Given the description of an element on the screen output the (x, y) to click on. 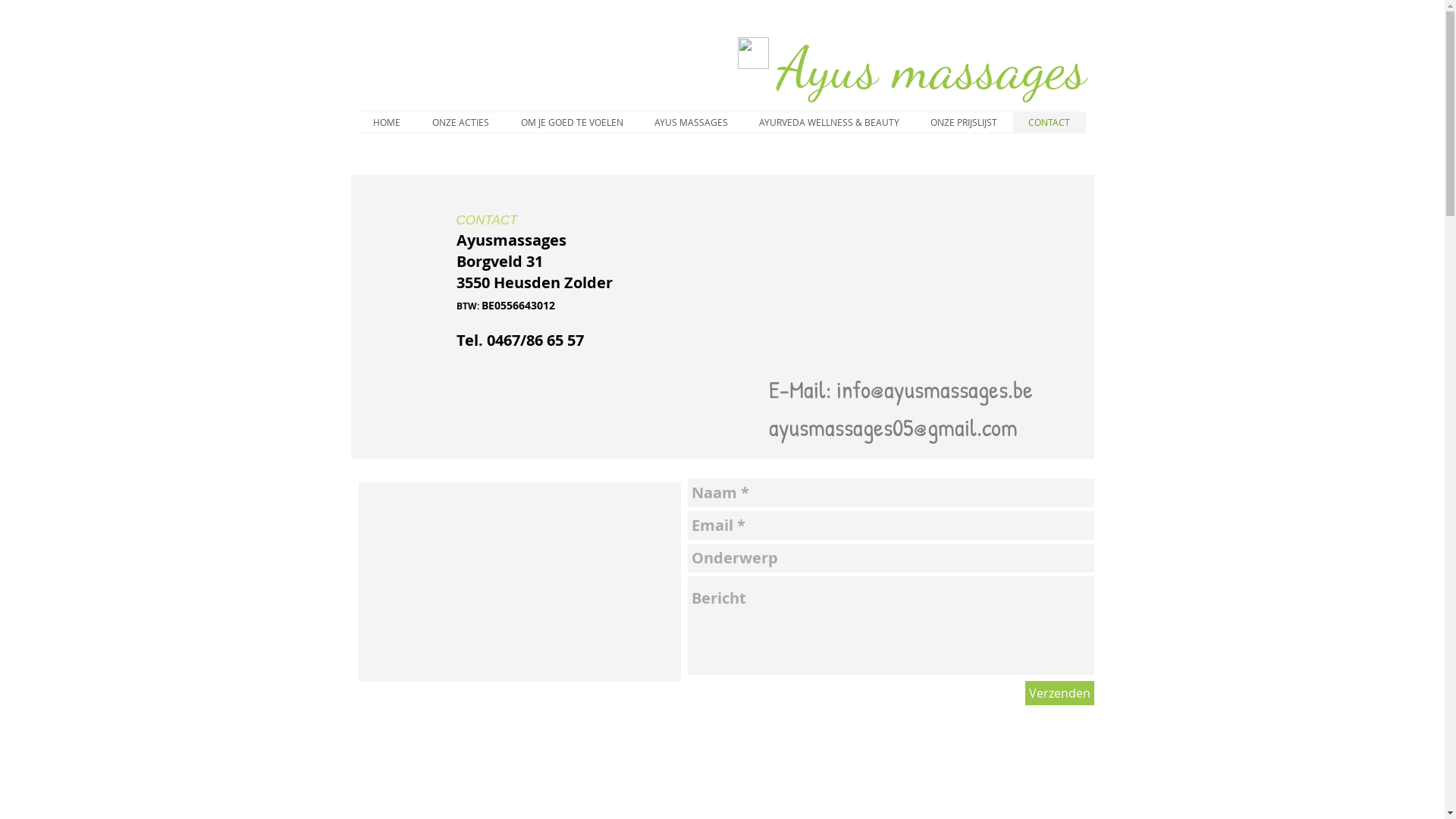
Ayus massages Element type: text (930, 67)
info@ayusmassages.be Element type: text (933, 389)
ayusmassages05@gmail.com Element type: text (892, 427)
AYUS MASSAGES Element type: text (690, 122)
Verzenden Element type: text (1059, 692)
OM JE GOED TE VOELEN Element type: text (572, 122)
CONTACT Element type: text (1049, 122)
ONZE ACTIES Element type: text (459, 122)
HOME Element type: text (385, 122)
Google Maps Element type: hover (519, 581)
AYURVEDA WELLNESS & BEAUTY Element type: text (828, 122)
ONZE PRIJSLIJST Element type: text (963, 122)
